Given the description of an element on the screen output the (x, y) to click on. 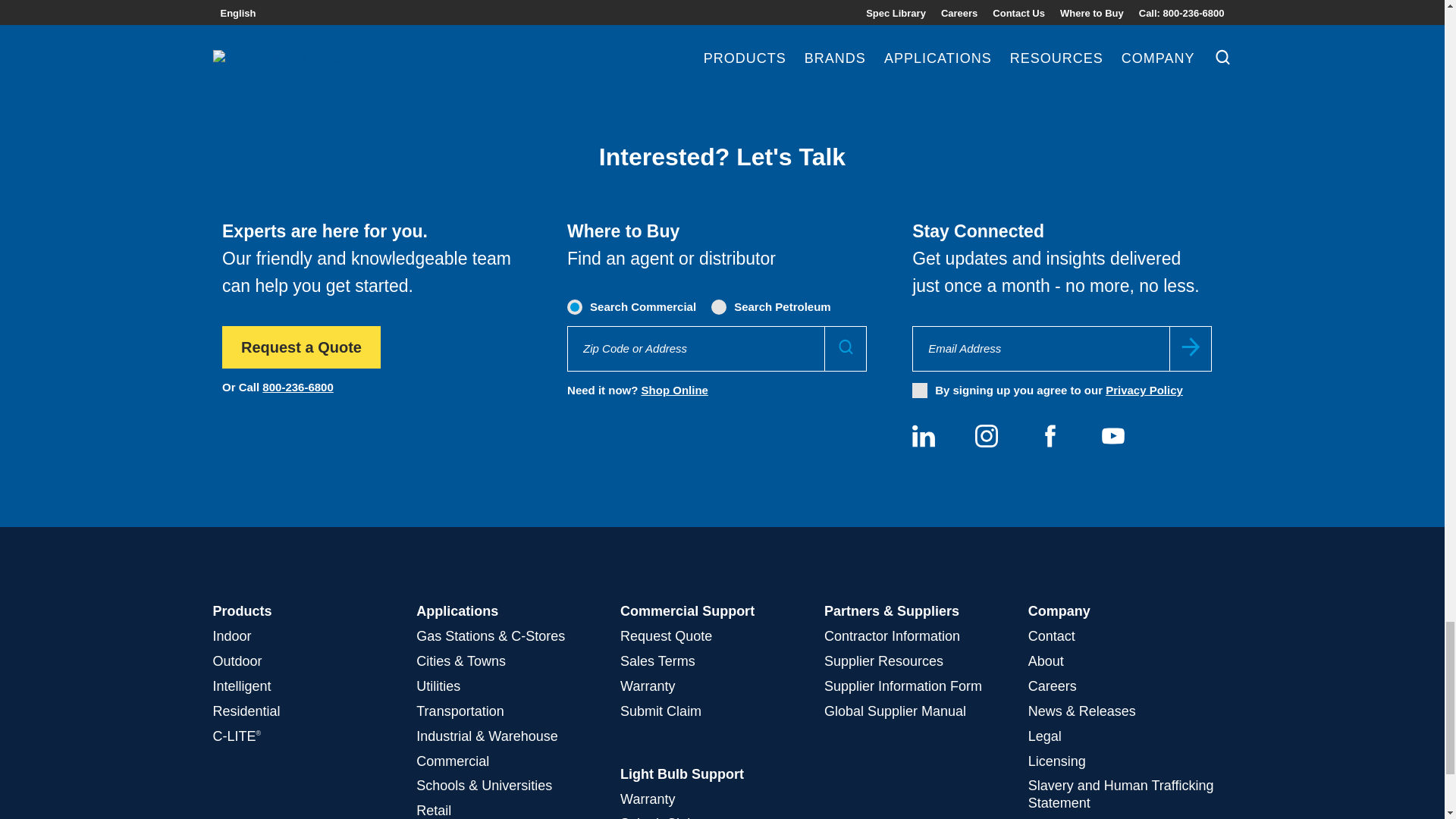
commercial (575, 307)
petroleum (719, 307)
privacy (919, 389)
